Given the description of an element on the screen output the (x, y) to click on. 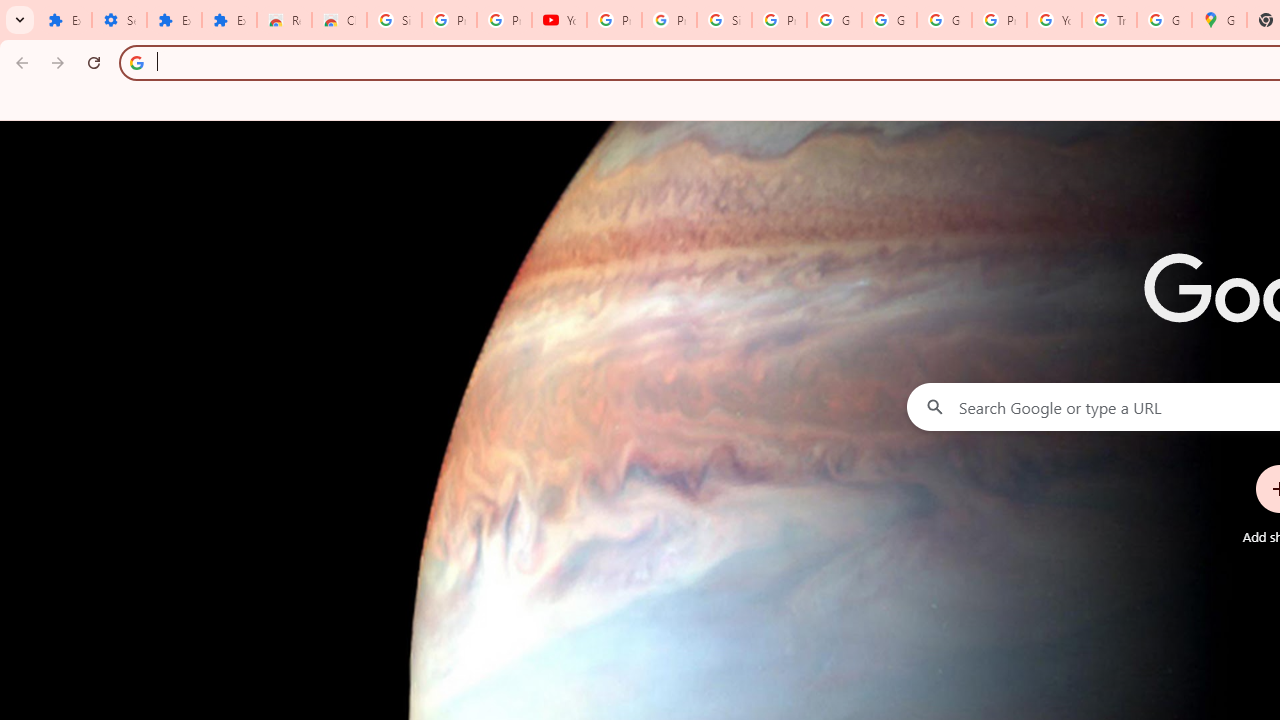
Google Account (833, 20)
Extensions (229, 20)
YouTube (559, 20)
Google Account (888, 20)
Extensions (64, 20)
Settings (119, 20)
Search icon (136, 62)
YouTube (1053, 20)
Google Maps (1218, 20)
Sign in - Google Accounts (394, 20)
